Given the description of an element on the screen output the (x, y) to click on. 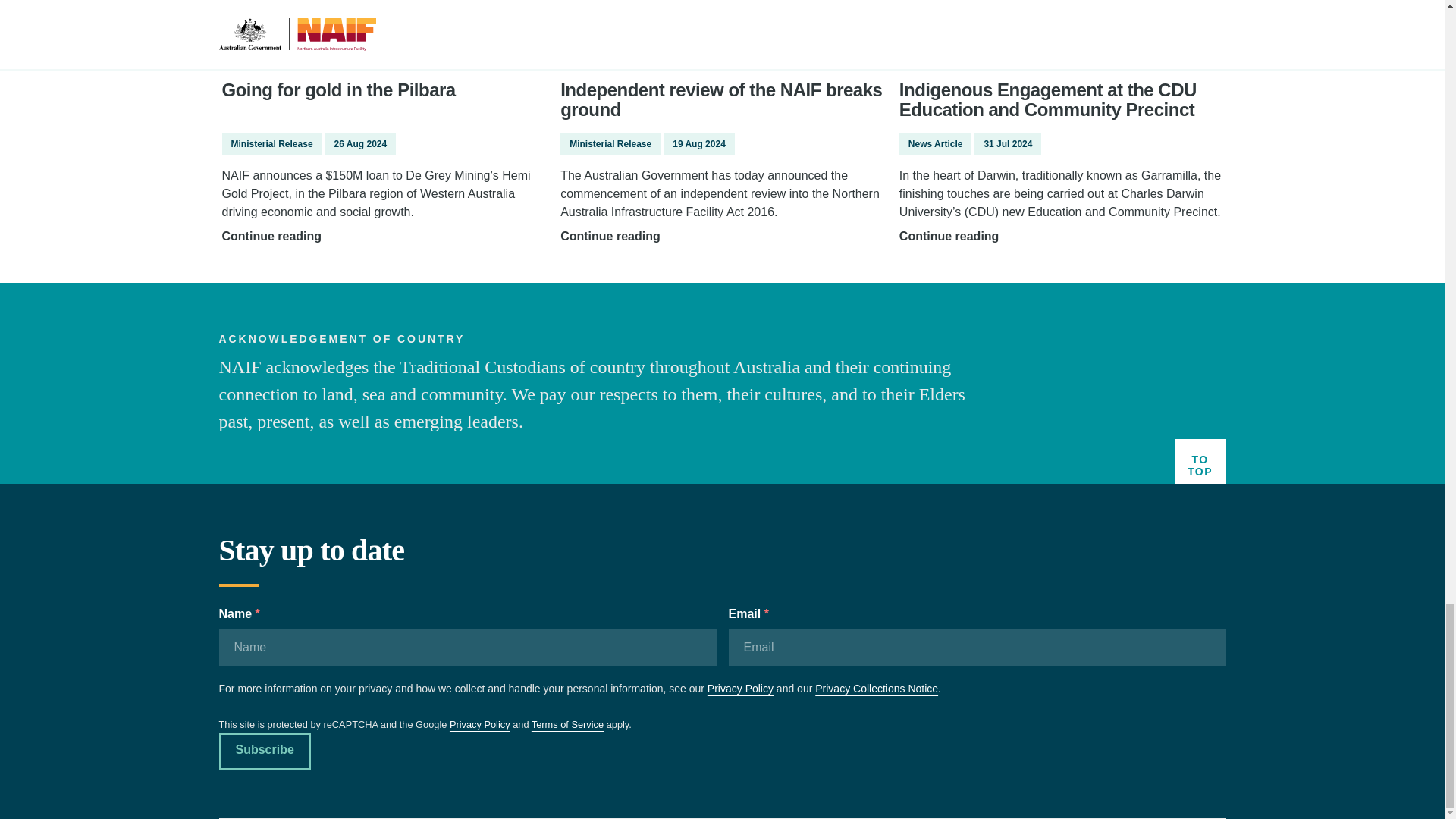
Subscribe (264, 751)
NAIF Privacy Collection Notice Promotional Activities (876, 688)
Privacy Policy (740, 688)
